Given the description of an element on the screen output the (x, y) to click on. 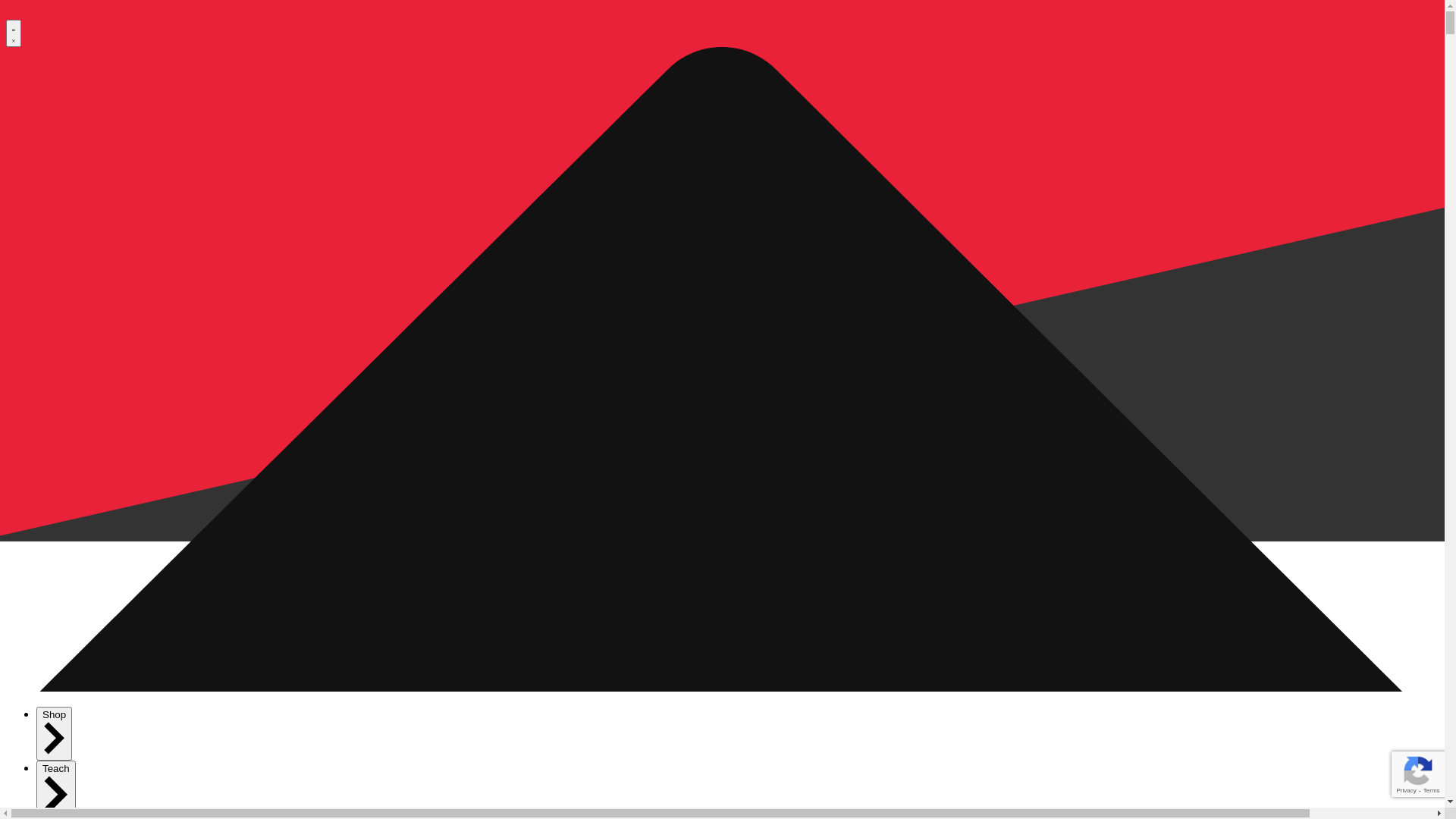
Shop Element type: text (54, 733)
